Given the description of an element on the screen output the (x, y) to click on. 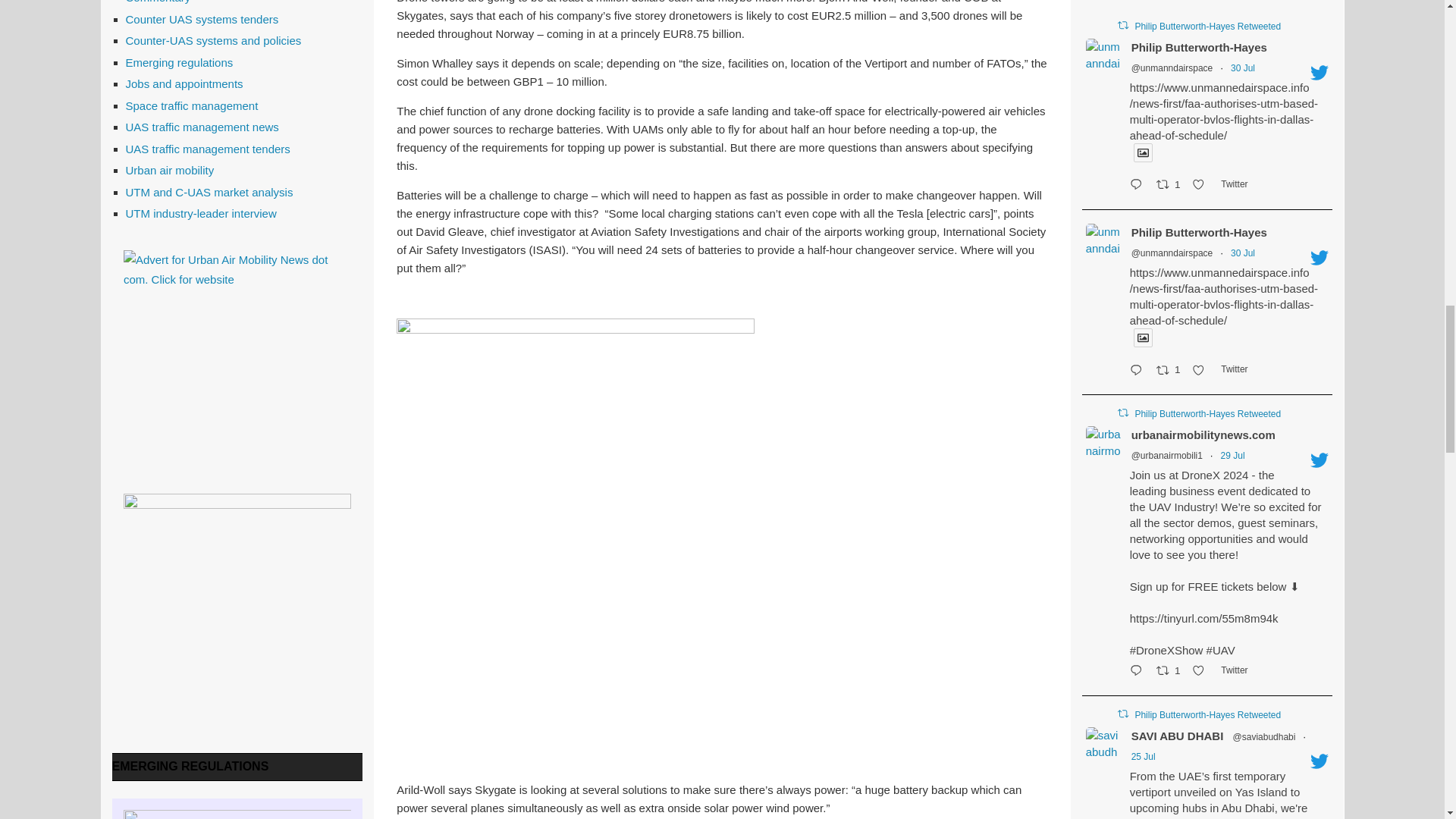
View all posts from category Emerging regulations (190, 766)
